Given the description of an element on the screen output the (x, y) to click on. 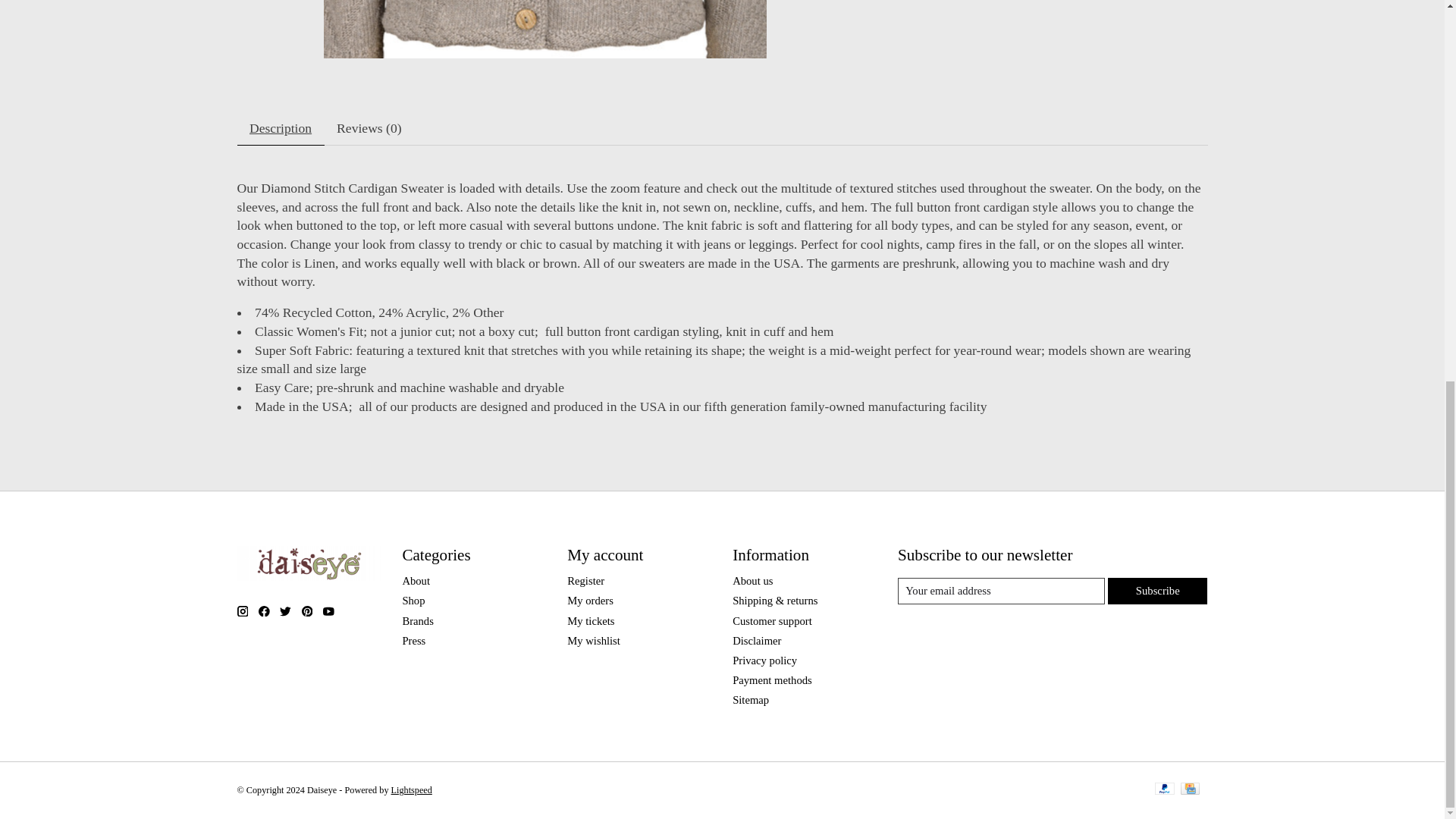
Customer support (772, 621)
Sitemap (750, 699)
Register (585, 580)
About us (752, 580)
My orders (589, 600)
PayPal (1164, 789)
My tickets (590, 621)
Privacy policy (764, 660)
Disclaimer (756, 640)
Lightspeed (411, 789)
My wishlist (593, 640)
Payment methods (772, 680)
